Given the description of an element on the screen output the (x, y) to click on. 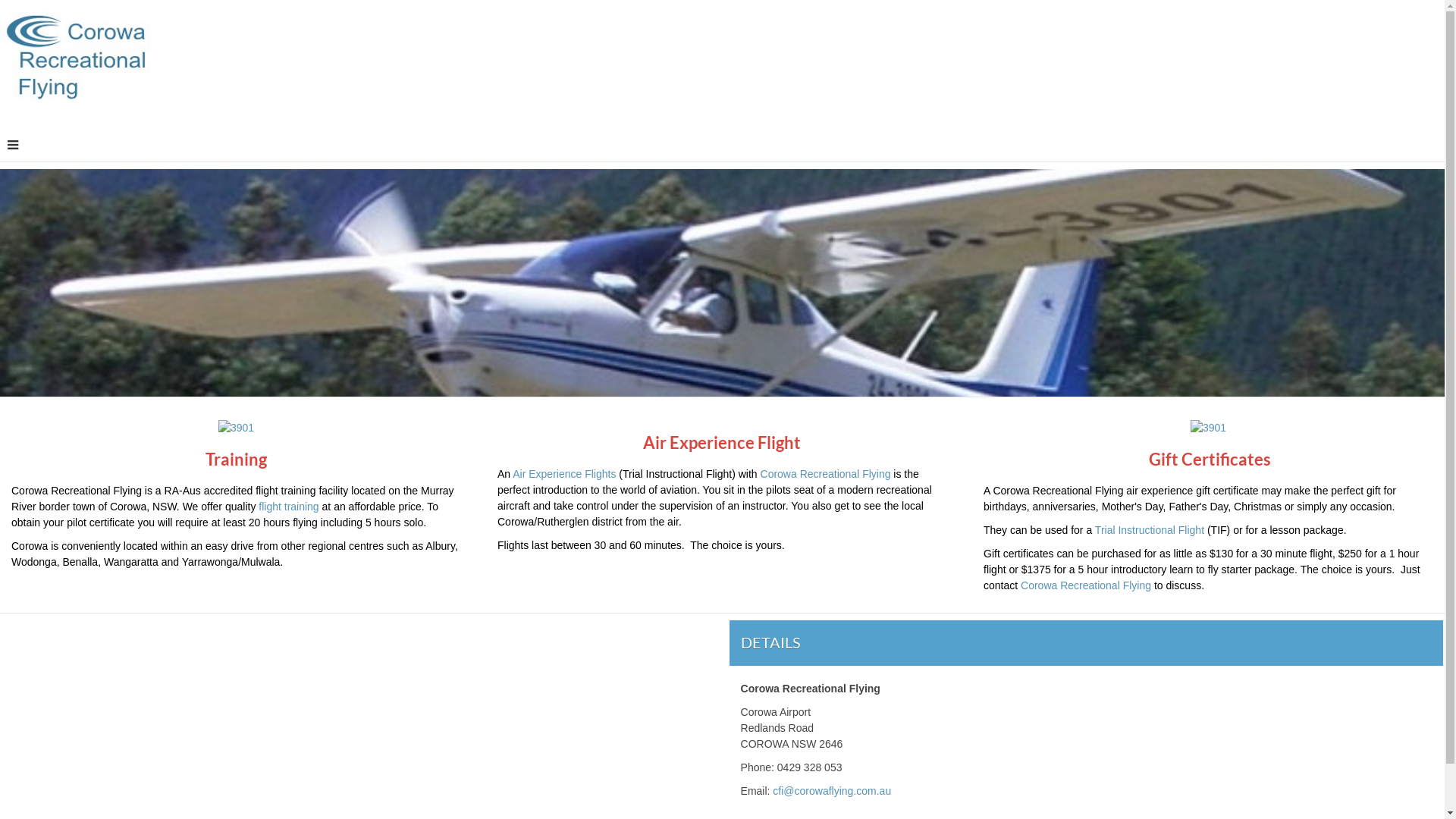
Trial Instructional Flight Element type: text (1151, 530)
Corowa Recreational Flying Element type: text (825, 473)
flight training Element type: text (288, 506)
Corowa Recreational Flying Element type: text (1085, 585)
CRF - Where we fly for fun Element type: hover (75, 54)
Air Experience Flights Element type: text (563, 473)
